Given the description of an element on the screen output the (x, y) to click on. 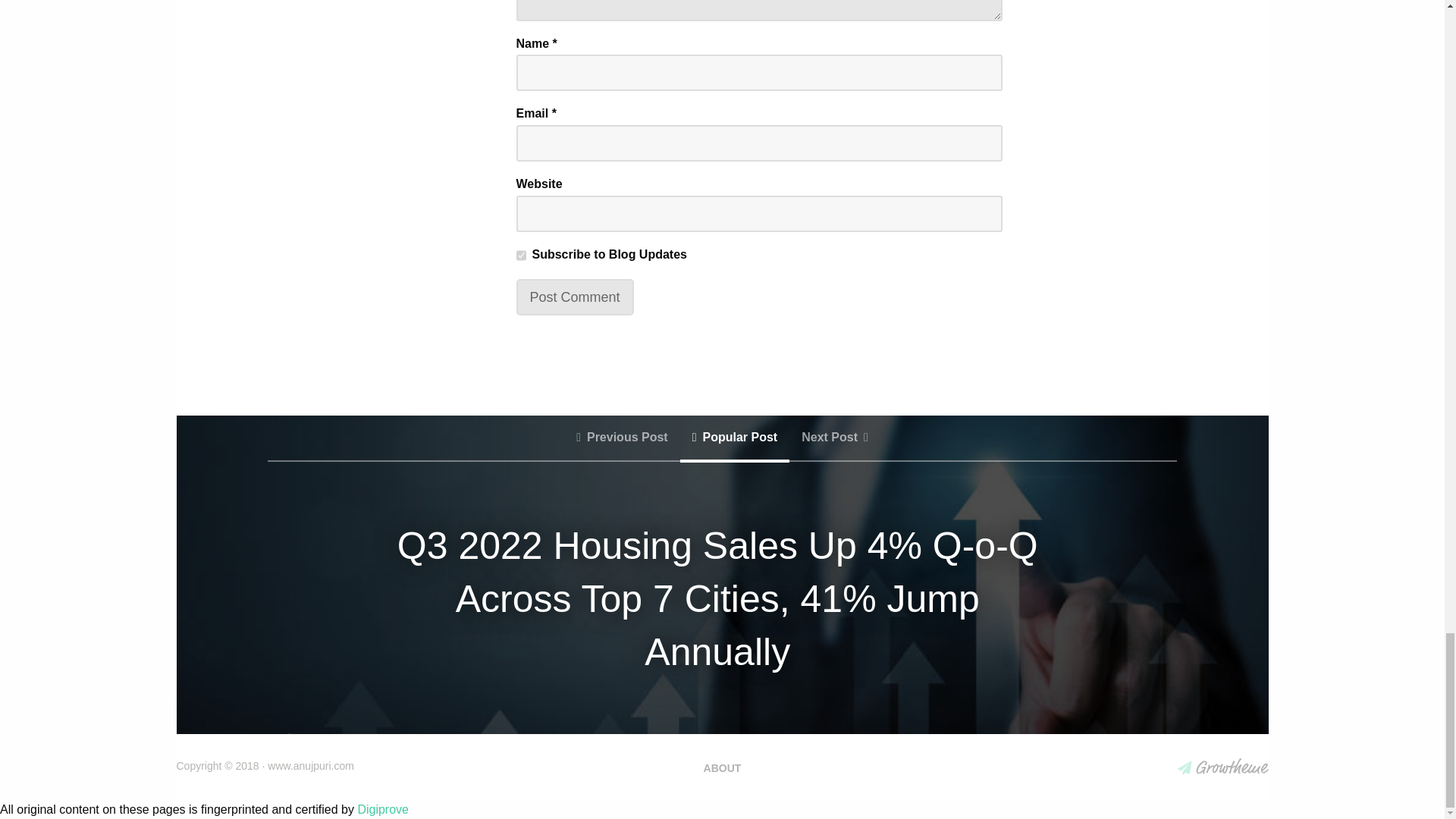
Previous Post (621, 438)
ABOUT (722, 767)
on (520, 255)
Post Comment (574, 297)
Post Comment (574, 297)
GROWTHEME (1222, 766)
Popular Post (734, 438)
Next Post (834, 438)
Digiprove (382, 809)
